Given the description of an element on the screen output the (x, y) to click on. 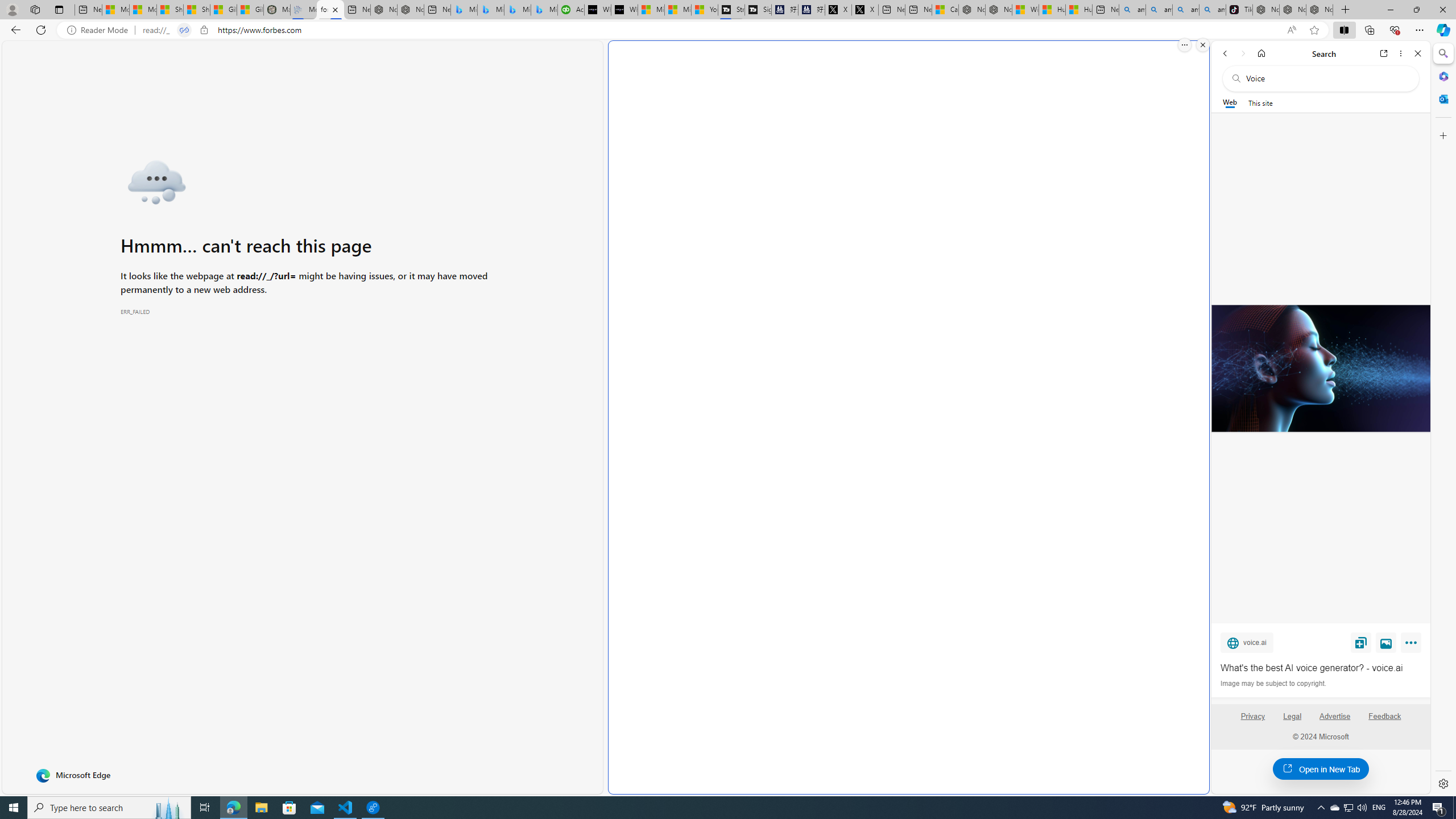
What's the best AI voice generator? - voice.ai (623, 9)
Address and search bar (709, 29)
Nordace - Summer Adventures 2024 (997, 9)
Streaming Coverage | T3 (731, 9)
Feedback (1384, 720)
Huge shark washes ashore at New York City beach | Watch (1079, 9)
voice.ai (1247, 642)
amazon - Search (1159, 9)
Open link in new tab (1383, 53)
This site scope (1259, 102)
Home (1261, 53)
